Given the description of an element on the screen output the (x, y) to click on. 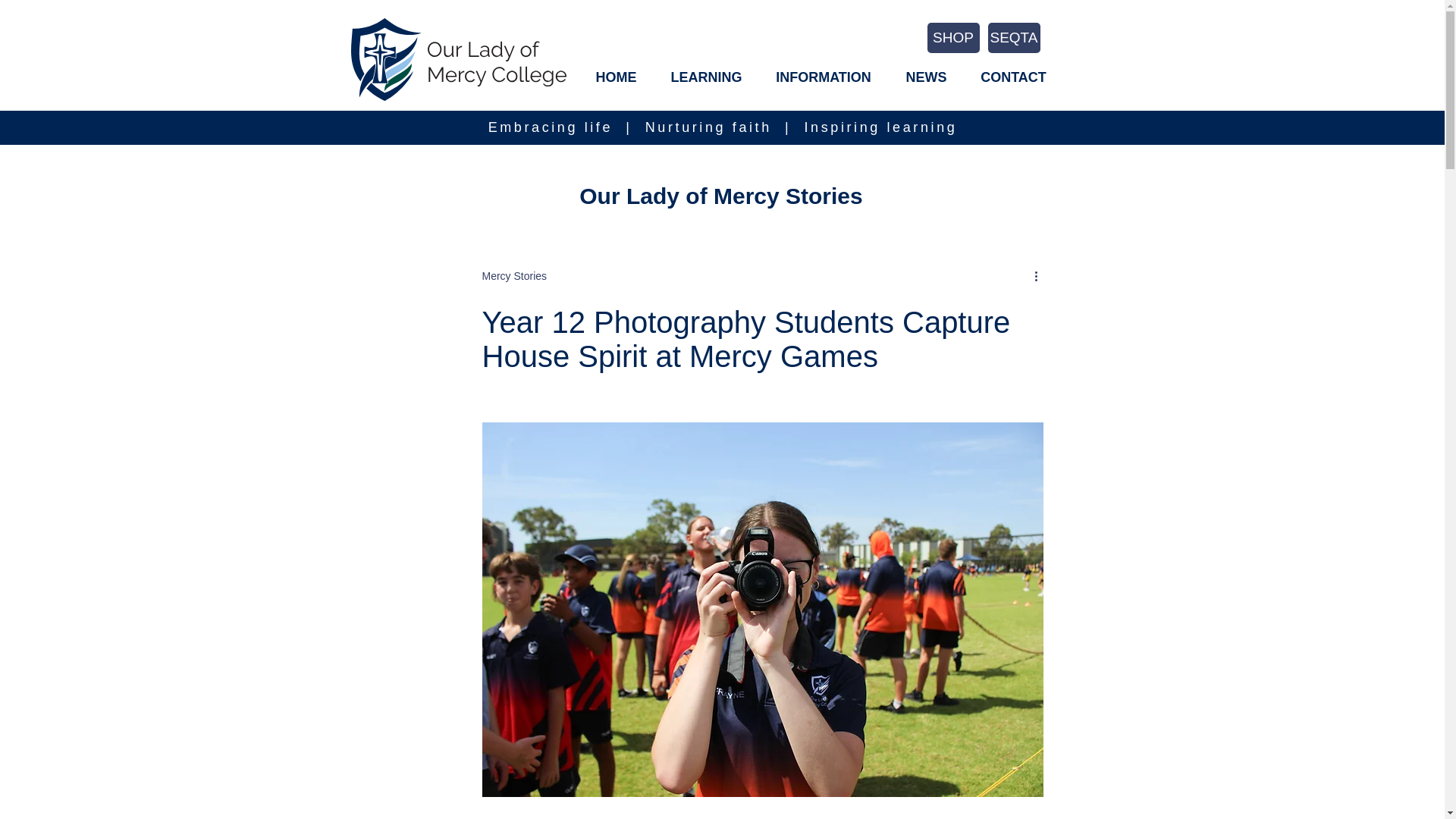
Mercy Stories (514, 276)
HOME (615, 77)
SEQTA (1013, 37)
CONTACT (1012, 77)
SHOP (952, 37)
Mercy Stories (514, 276)
